Given the description of an element on the screen output the (x, y) to click on. 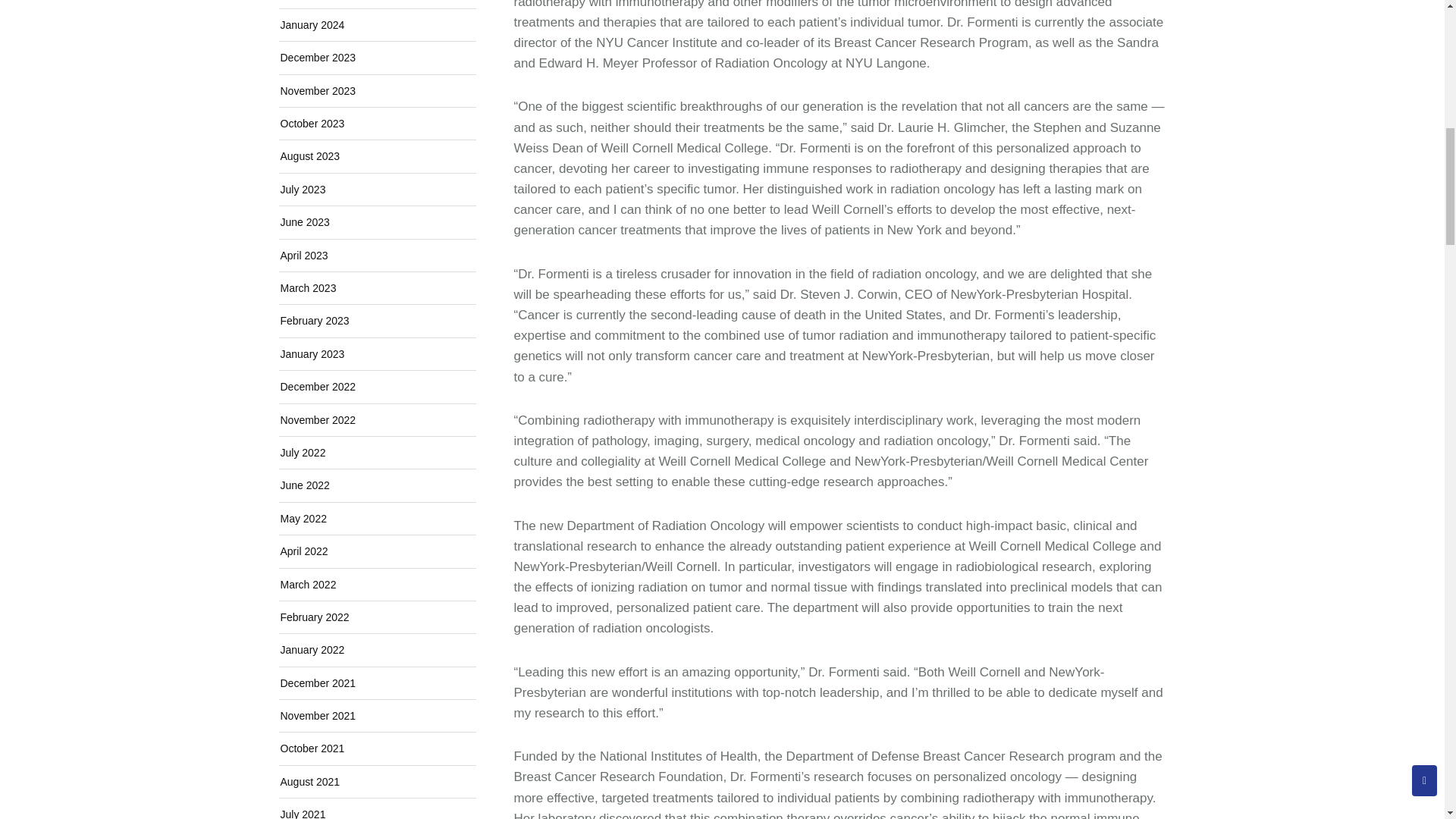
December 2023 (318, 57)
November 2022 (318, 419)
January 2023 (313, 354)
November 2023 (318, 91)
July 2022 (303, 452)
December 2022 (318, 386)
June 2022 (305, 485)
January 2024 (313, 24)
October 2023 (313, 123)
July 2023 (303, 189)
February 2023 (315, 320)
May 2022 (303, 518)
April 2023 (305, 255)
March 2023 (308, 287)
August 2023 (310, 155)
